Given the description of an element on the screen output the (x, y) to click on. 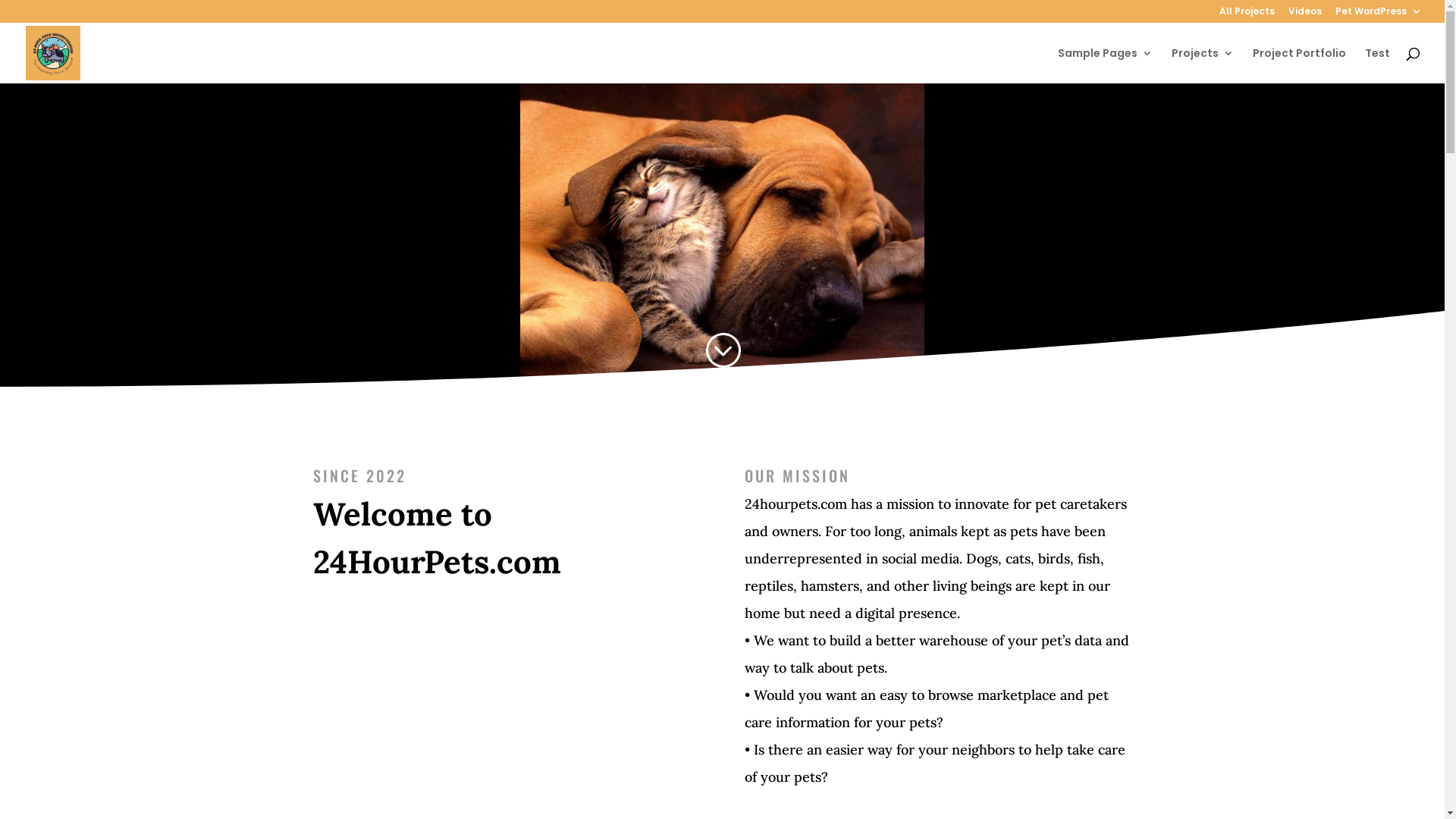
Videos Element type: text (1304, 14)
Sample Pages Element type: text (1104, 65)
; Element type: text (721, 350)
Test Element type: text (1377, 65)
Projects Element type: text (1202, 65)
Project Portfolio Element type: text (1299, 65)
Pet WordPress Element type: text (1378, 14)
All Projects Element type: text (1246, 14)
